Given the description of an element on the screen output the (x, y) to click on. 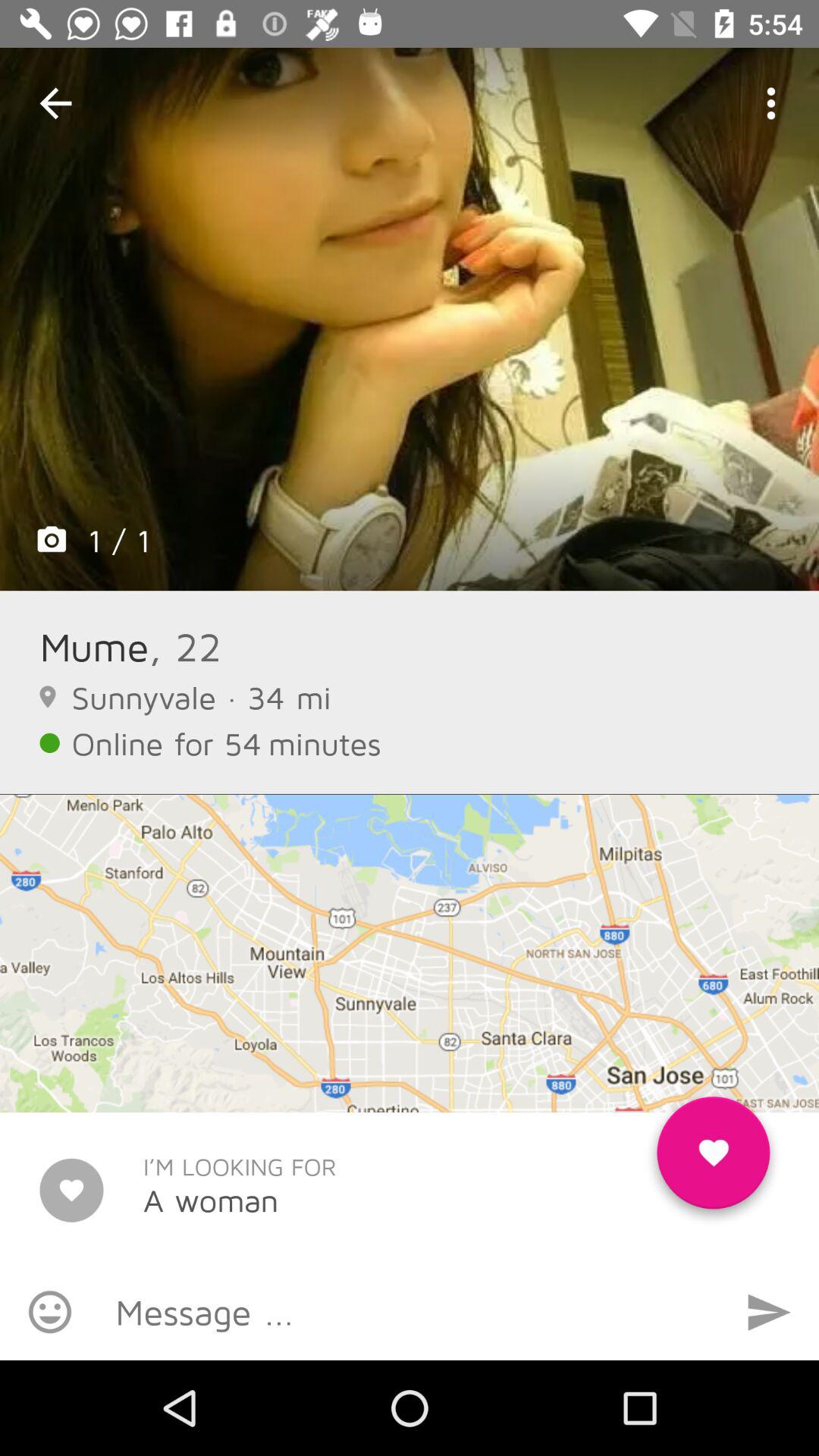
enlarge picture (409, 318)
